Given the description of an element on the screen output the (x, y) to click on. 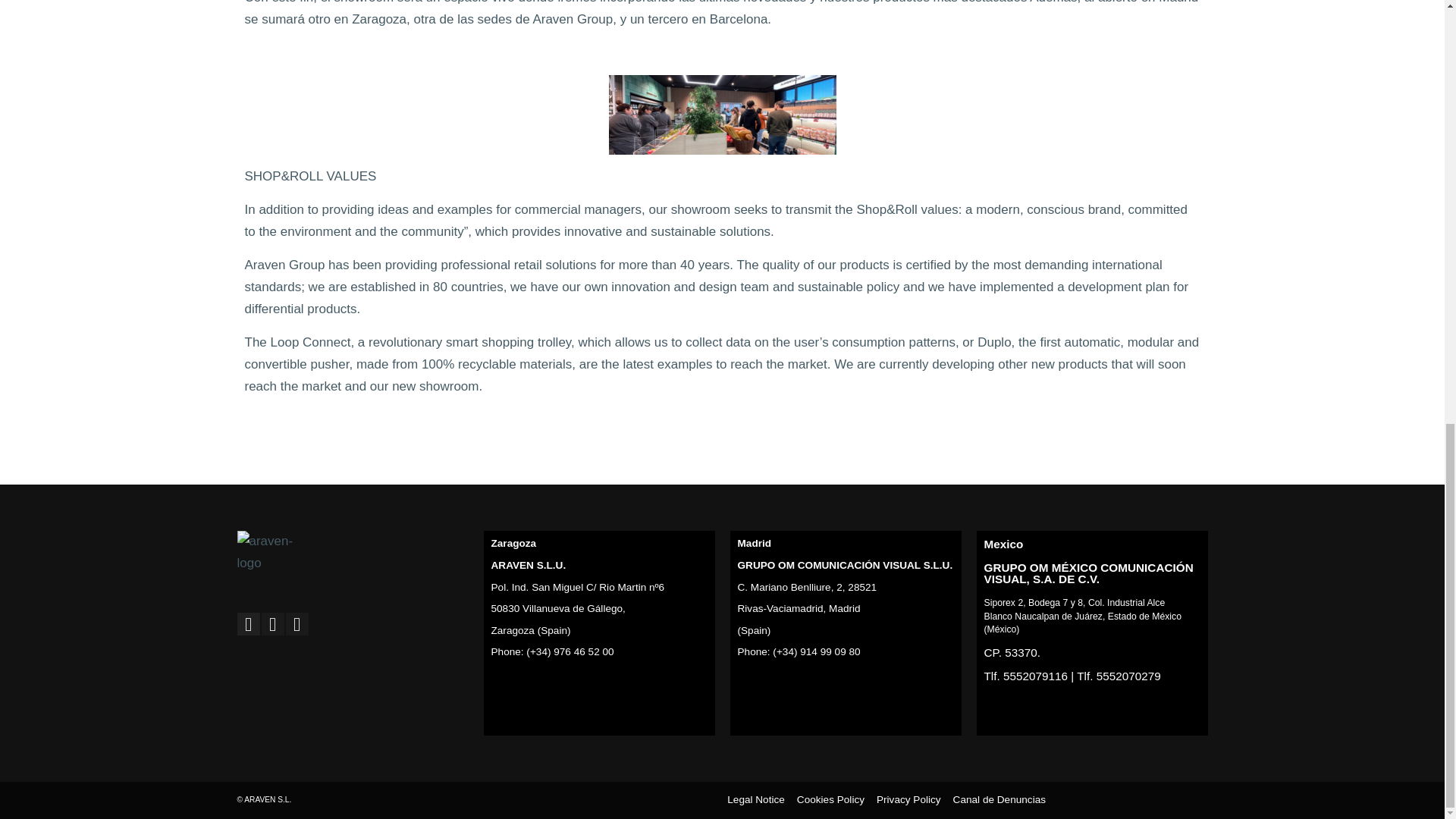
Legal Notice (755, 800)
Canal de Denuncias (999, 800)
araven-logo (274, 552)
Cookies Policy (830, 800)
Privacy Policy (908, 800)
